Given the description of an element on the screen output the (x, y) to click on. 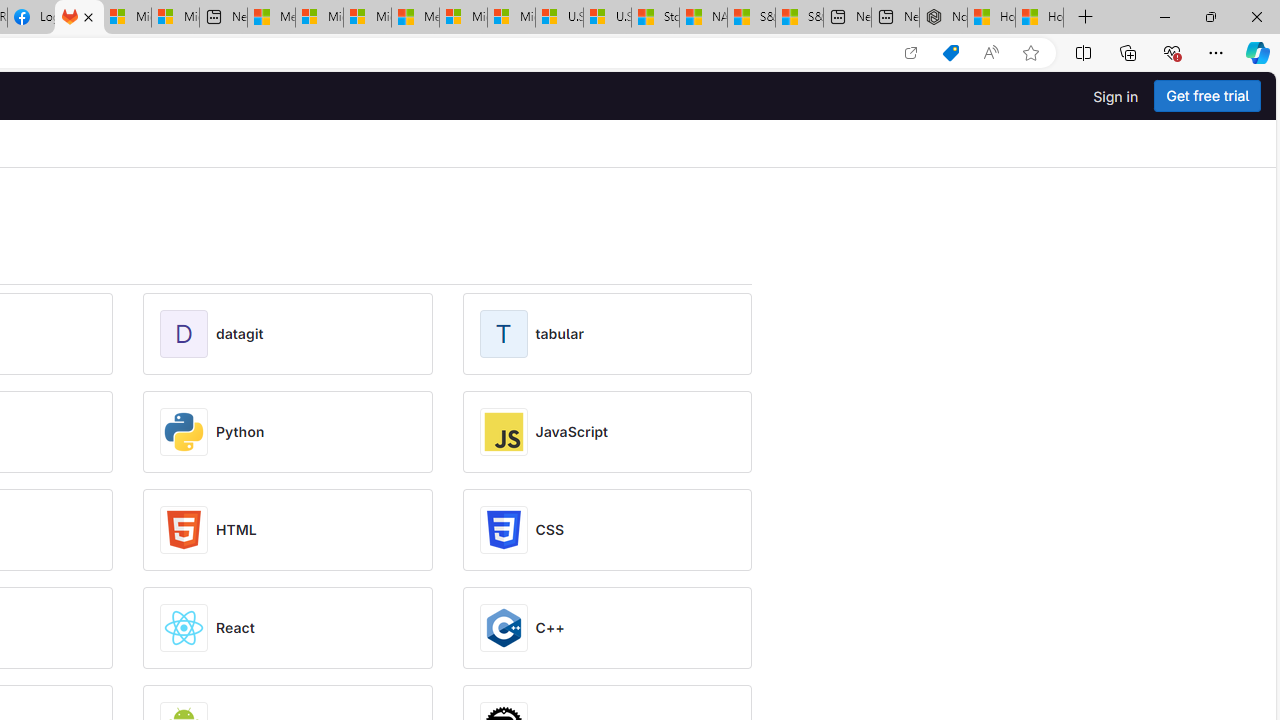
JavaScript (572, 431)
Get free trial (1207, 95)
D (188, 334)
How to Use a Monitor With Your Closed Laptop (1039, 17)
Sign in (1115, 95)
